Given the description of an element on the screen output the (x, y) to click on. 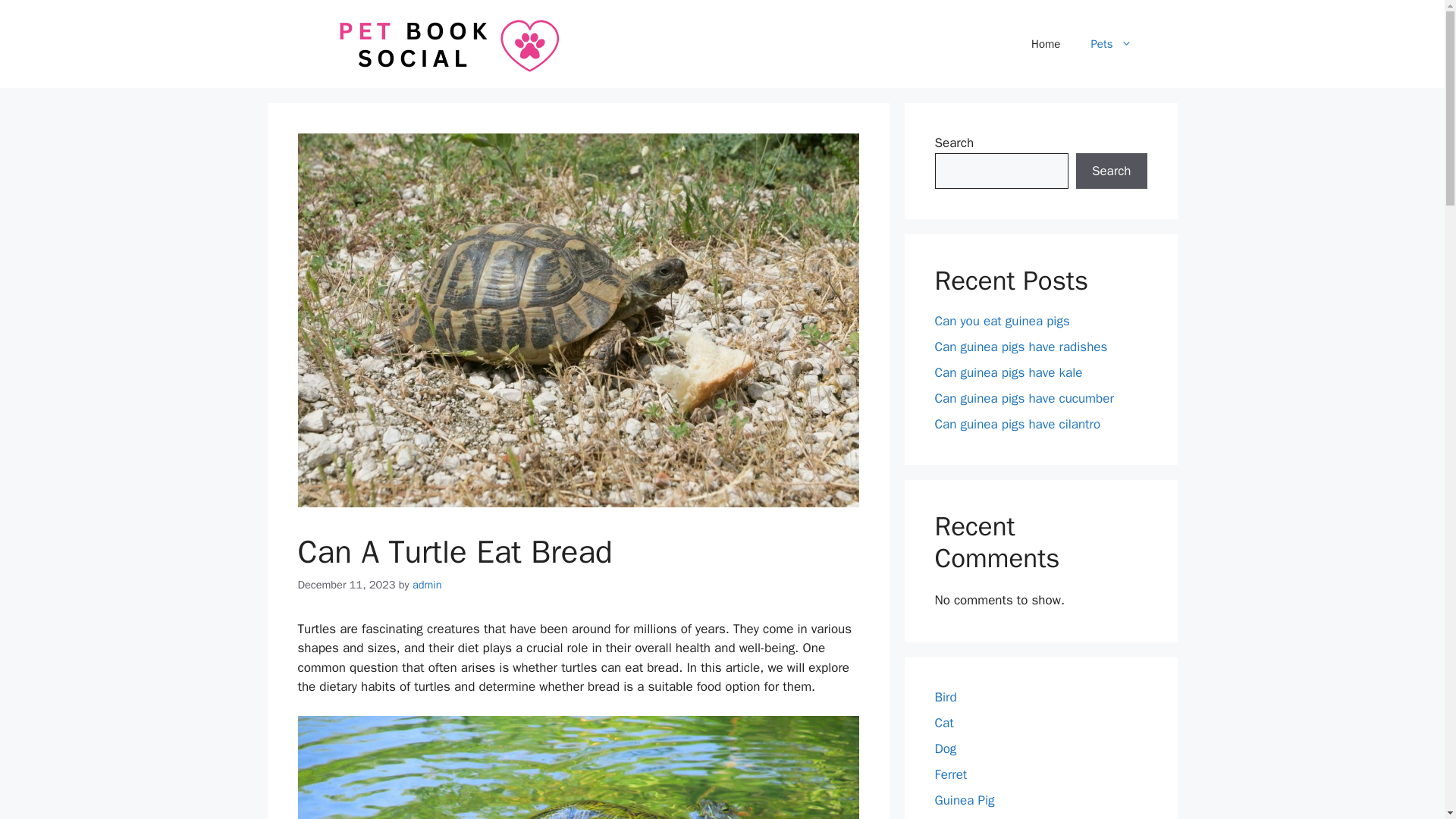
Search (1111, 171)
Can you eat guinea pigs (1001, 320)
Hamster (957, 818)
Guinea Pig (964, 800)
admin (427, 584)
Can guinea pigs have cilantro (1017, 424)
Ferret (950, 774)
Can guinea pigs have cucumber (1023, 398)
Dog (945, 748)
Can guinea pigs have radishes (1020, 346)
